Given the description of an element on the screen output the (x, y) to click on. 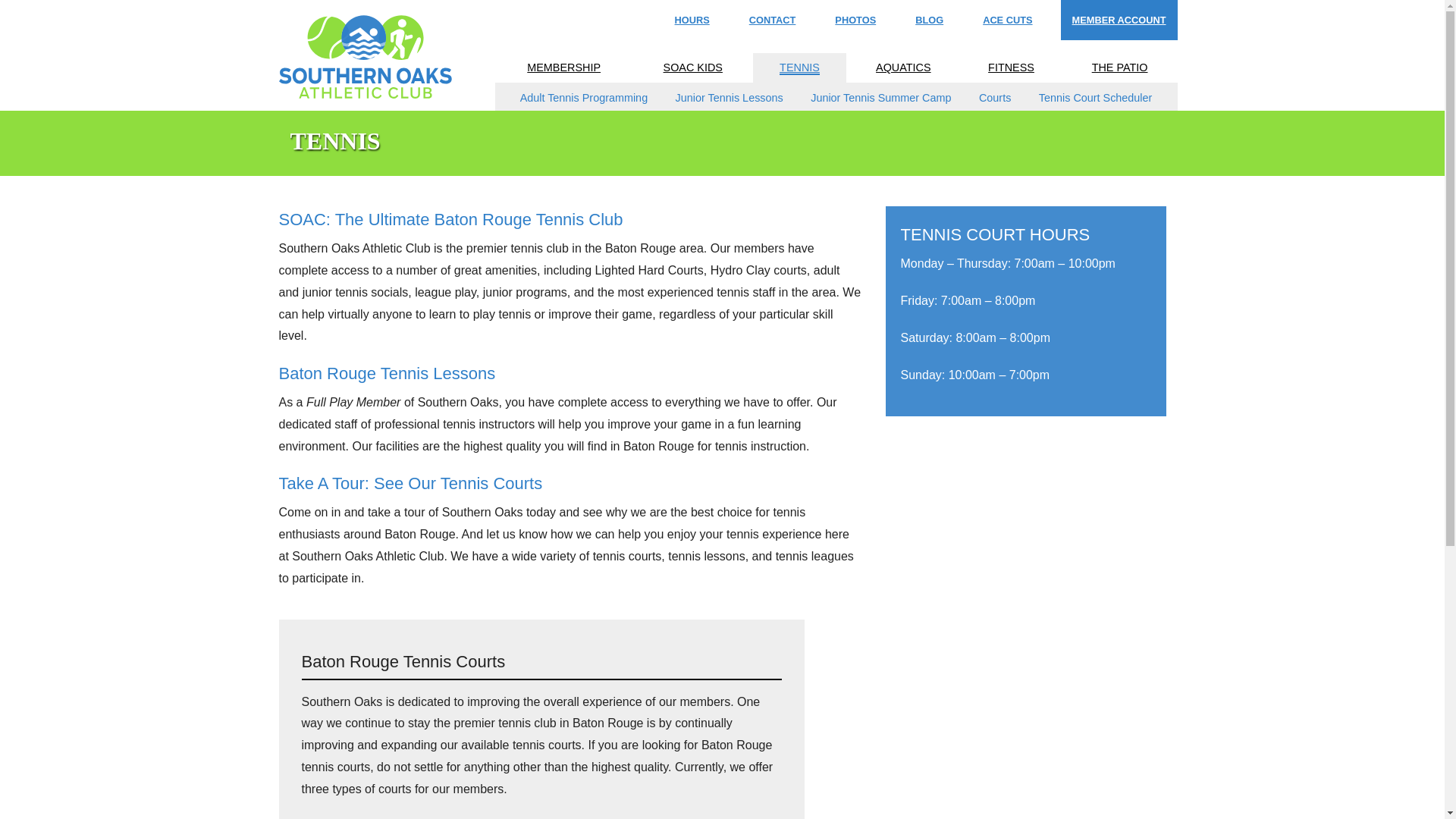
PHOTOS (855, 19)
BLOG (929, 19)
CONTACT (772, 19)
ACE CUTS (1007, 19)
MEMBER ACCOUNT (1118, 19)
HOURS (692, 19)
